Given the description of an element on the screen output the (x, y) to click on. 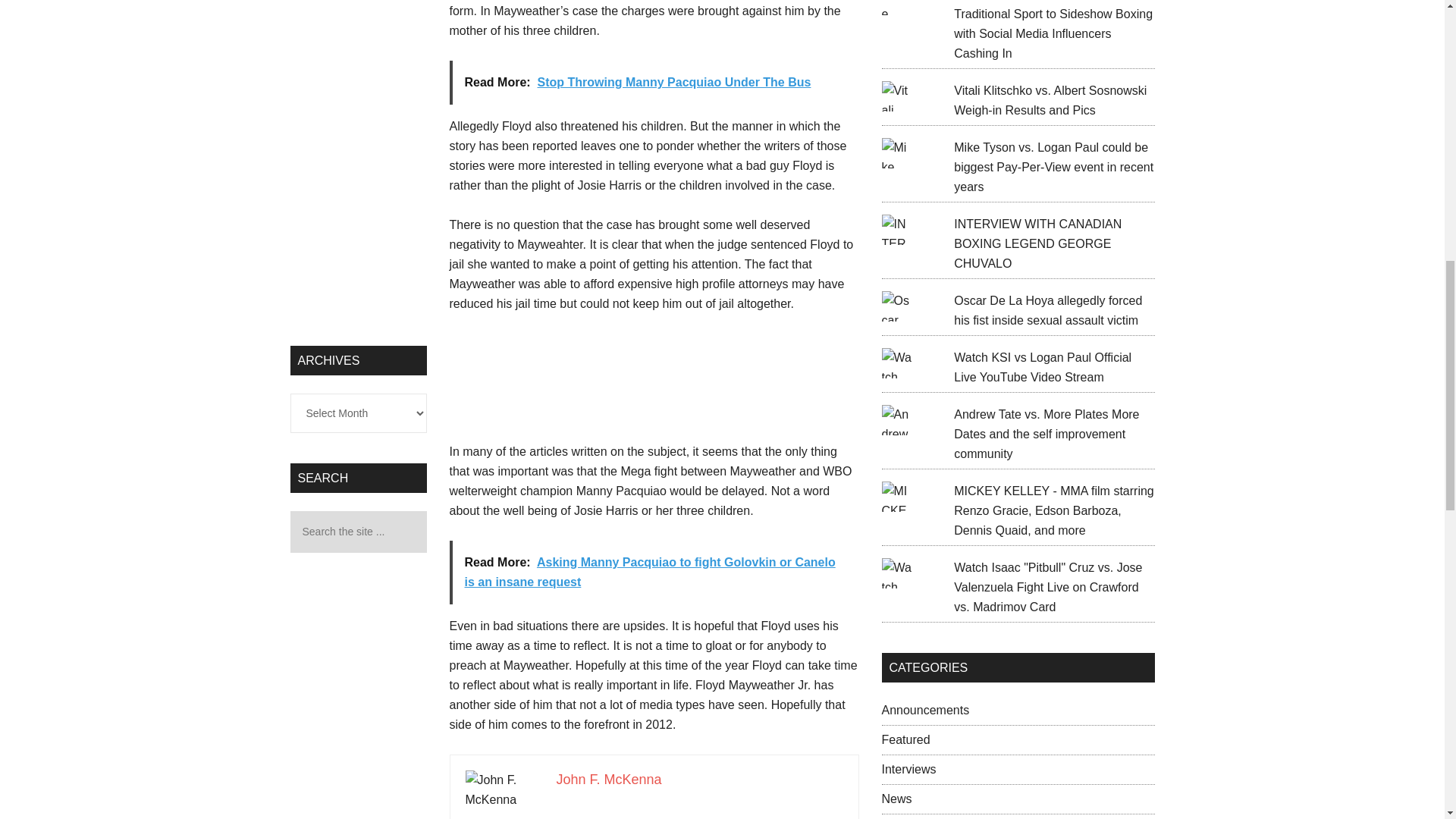
INTERVIEW WITH CANADIAN BOXING LEGEND GEORGE CHUVALO (1037, 243)
Watch KSI vs Logan Paul Official Live YouTube Video Stream (1042, 367)
